Given the description of an element on the screen output the (x, y) to click on. 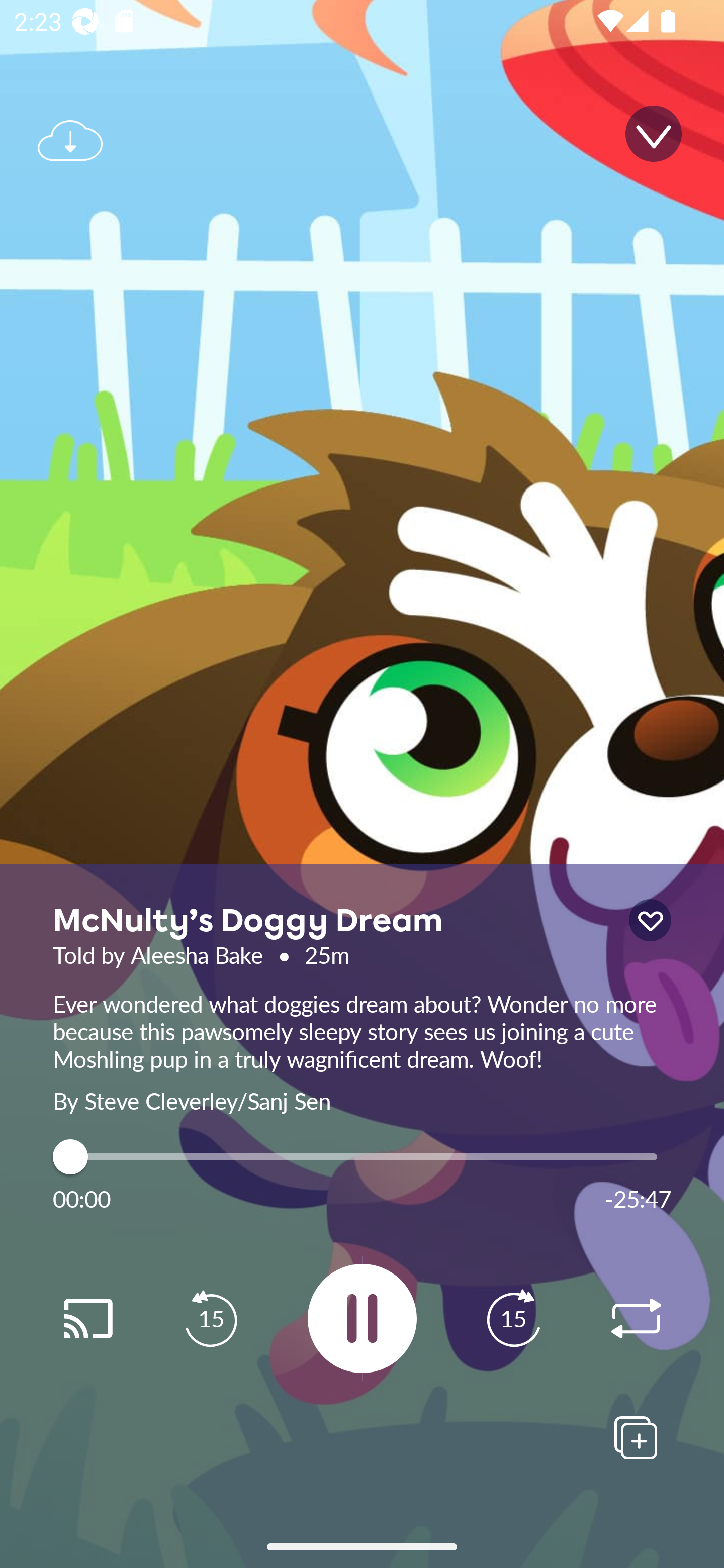
lock icon (650, 920)
1.8087856E-5 Pause (361, 1317)
Replay (87, 1318)
Replay 15 (210, 1318)
Replay 15 (513, 1318)
Replay (635, 1318)
Add To Playlists (635, 1437)
